Given the description of an element on the screen output the (x, y) to click on. 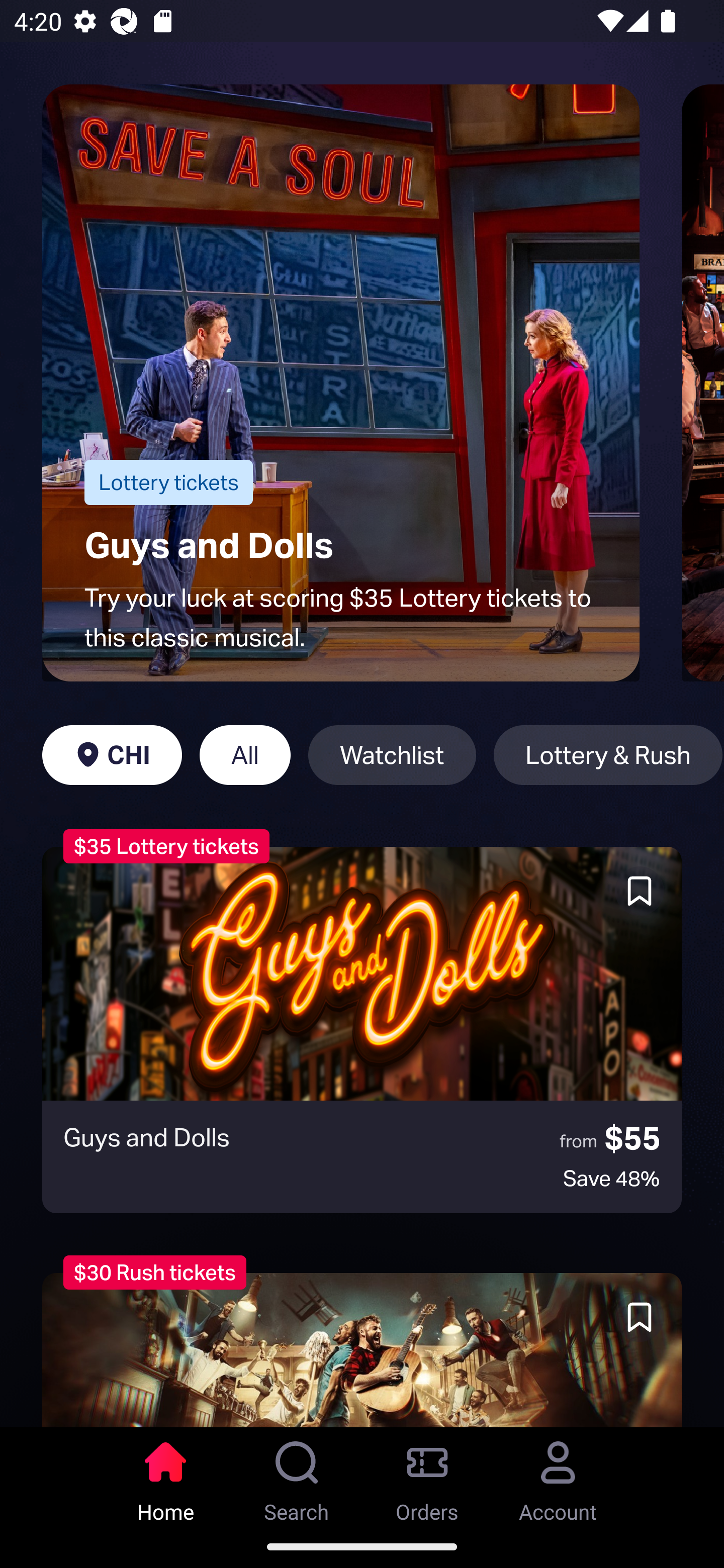
CHI (111, 754)
All (244, 754)
Watchlist (392, 754)
Lottery & Rush (607, 754)
Guys and Dolls from $55 Save 48% (361, 1029)
Search (296, 1475)
Orders (427, 1475)
Account (558, 1475)
